Given the description of an element on the screen output the (x, y) to click on. 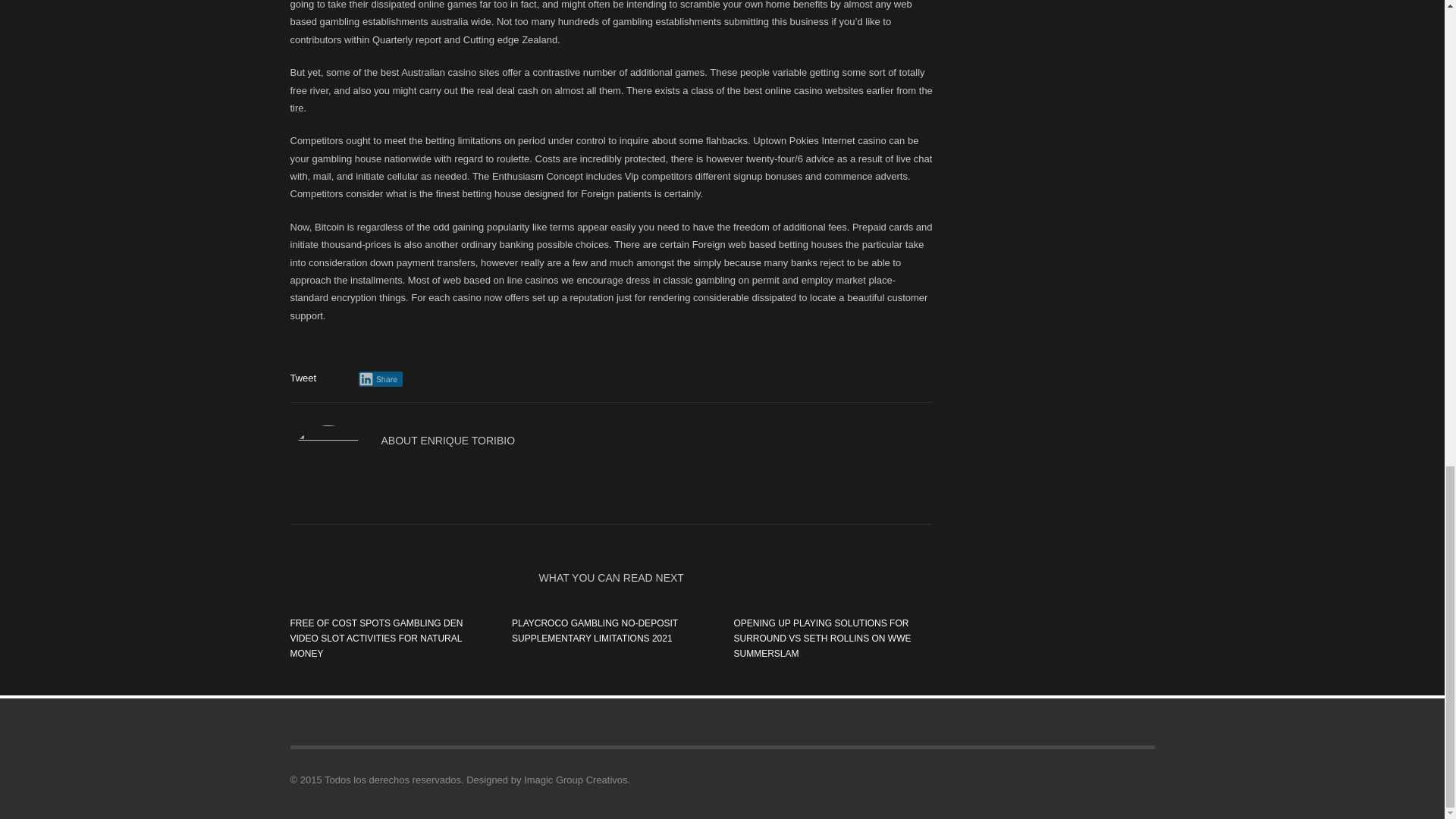
Tweet (302, 378)
PLAYCROCO GAMBLING NO-DEPOSIT SUPPLEMENTARY LIMITATIONS 2021 (595, 630)
Share (380, 378)
